Given the description of an element on the screen output the (x, y) to click on. 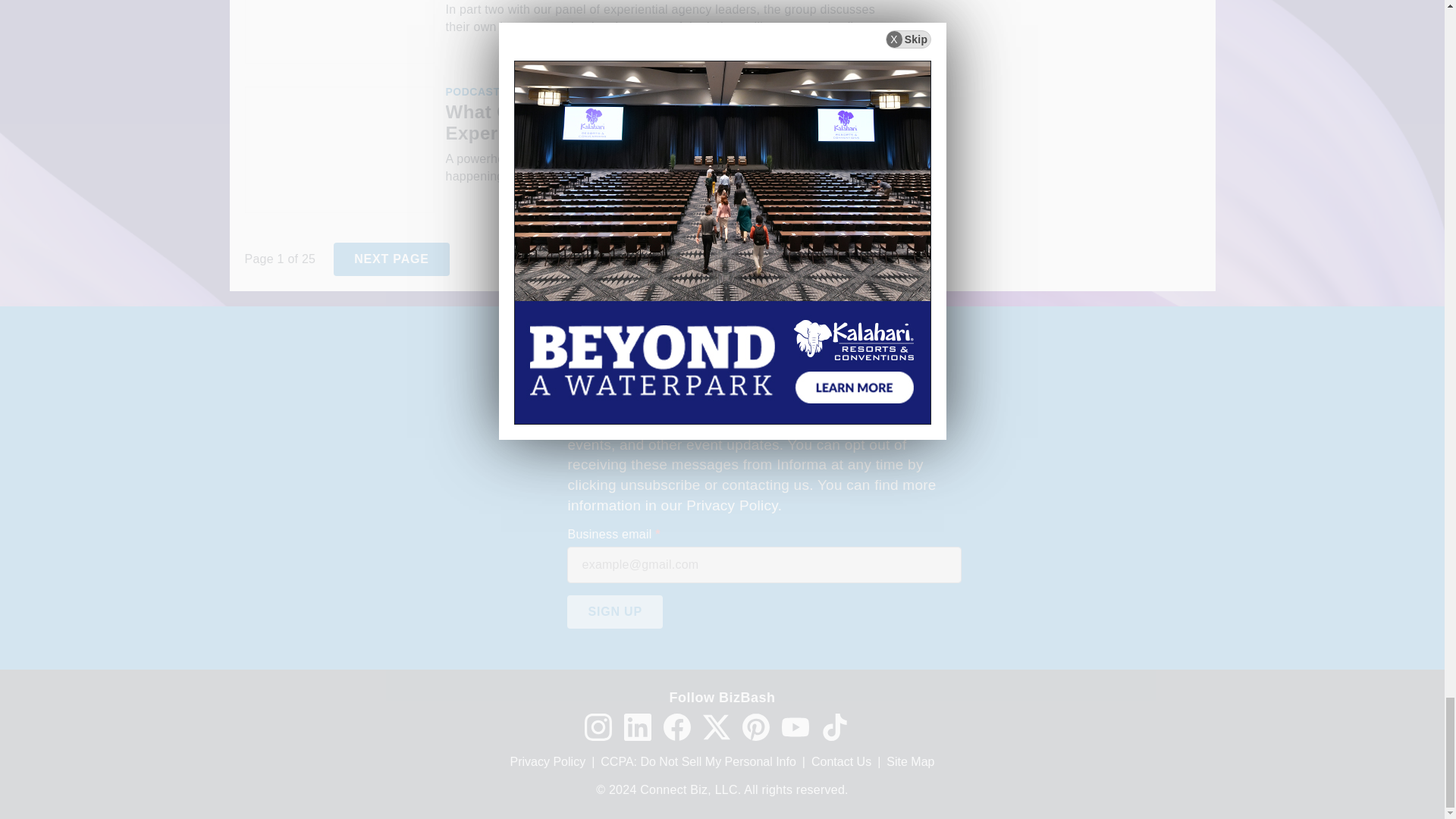
Instagram icon (597, 727)
LinkedIn icon (636, 727)
Twitter X icon (715, 727)
Pinterest icon (754, 727)
YouTube icon (794, 727)
TikTok (834, 727)
Facebook icon (676, 727)
